Given the description of an element on the screen output the (x, y) to click on. 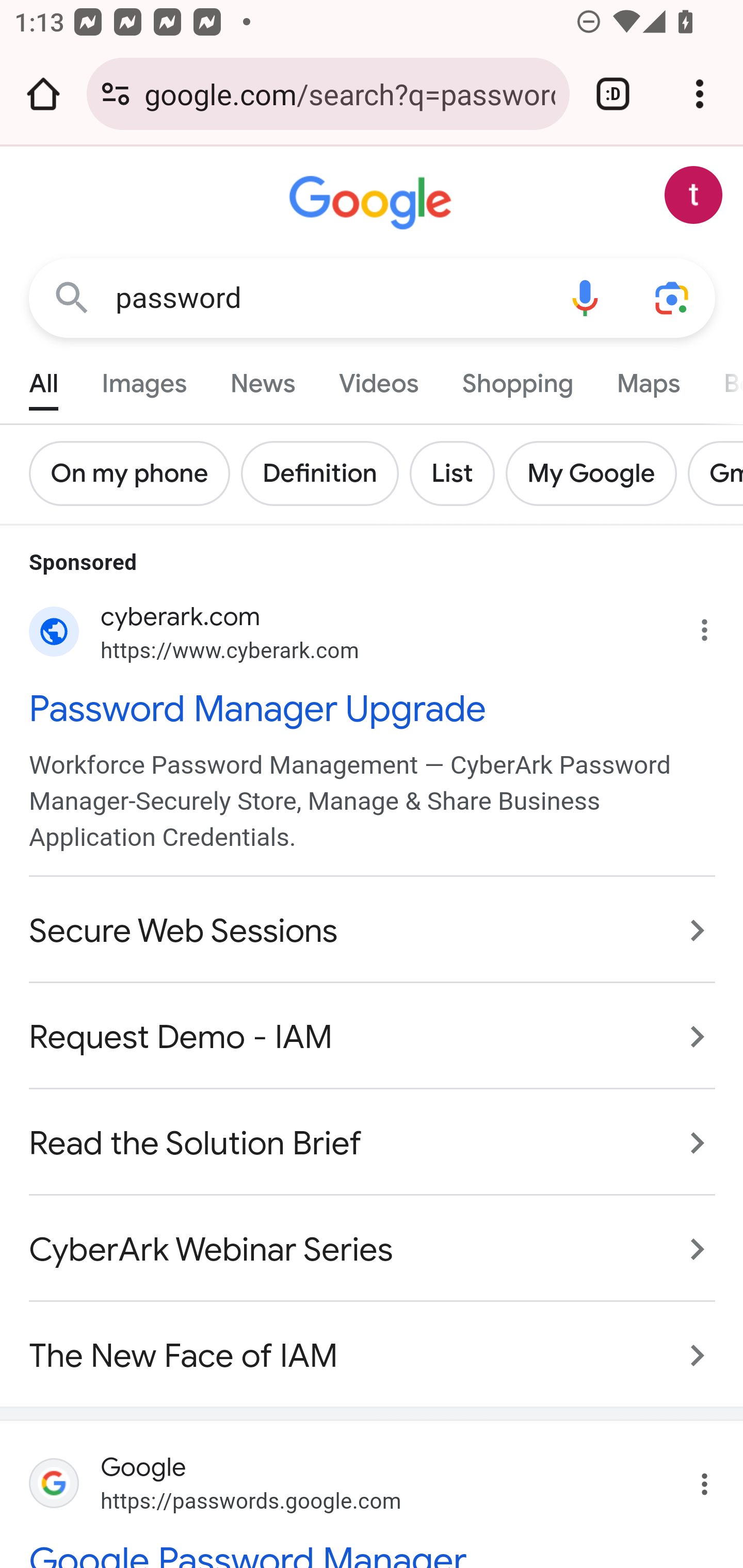
Open the home page (43, 93)
Connection is secure (115, 93)
Switch or close tabs (612, 93)
Customize and control Google Chrome (699, 93)
Google (372, 203)
Google Search (71, 296)
Search using your camera or photos (672, 296)
password (328, 297)
Images (144, 378)
News (262, 378)
Videos (378, 378)
Shopping (516, 378)
Maps (647, 378)
Add On my phone On my phone (135, 473)
Add Definition Definition (324, 473)
Add List List (456, 473)
Add My Google My Google (596, 473)
Why this ad? (714, 625)
Password Manager Upgrade (372, 707)
Secure Web Sessions (372, 930)
Request Demo - IAM (372, 1036)
Read the Solution Brief (372, 1142)
CyberArk Webinar Series (372, 1249)
The New Face of IAM (372, 1345)
